Given the description of an element on the screen output the (x, y) to click on. 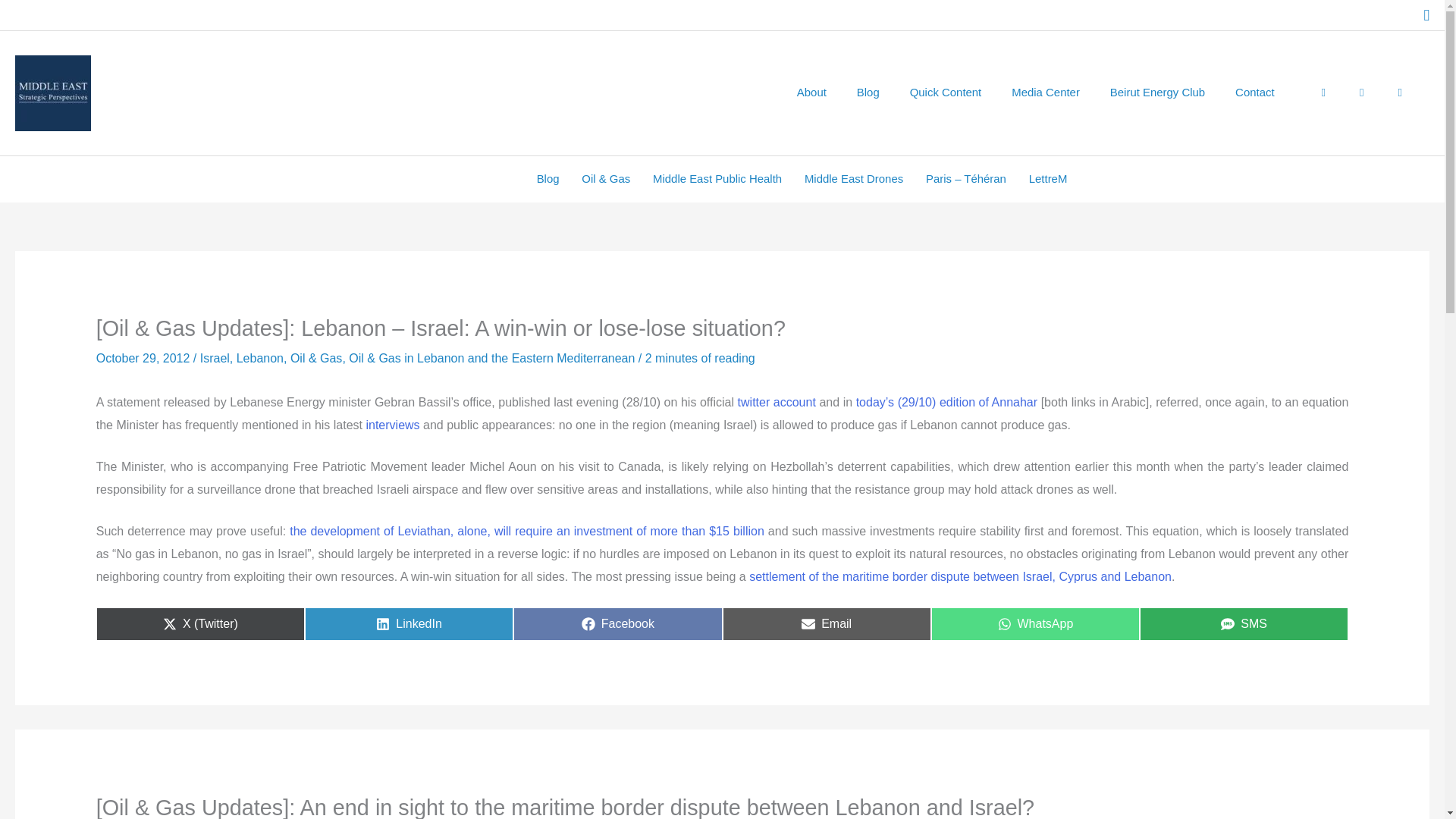
Blog (868, 92)
Lebanon (1244, 623)
LettreM (259, 358)
Media Center (1047, 178)
About (1035, 623)
interviews (1044, 92)
Middle East Public Health (811, 92)
twitter account (392, 424)
Middle East Strategic Perspectives on Linkedin (717, 178)
Contact (776, 401)
Middle East Strategic Perspectives on Facebook (1399, 92)
